Given the description of an element on the screen output the (x, y) to click on. 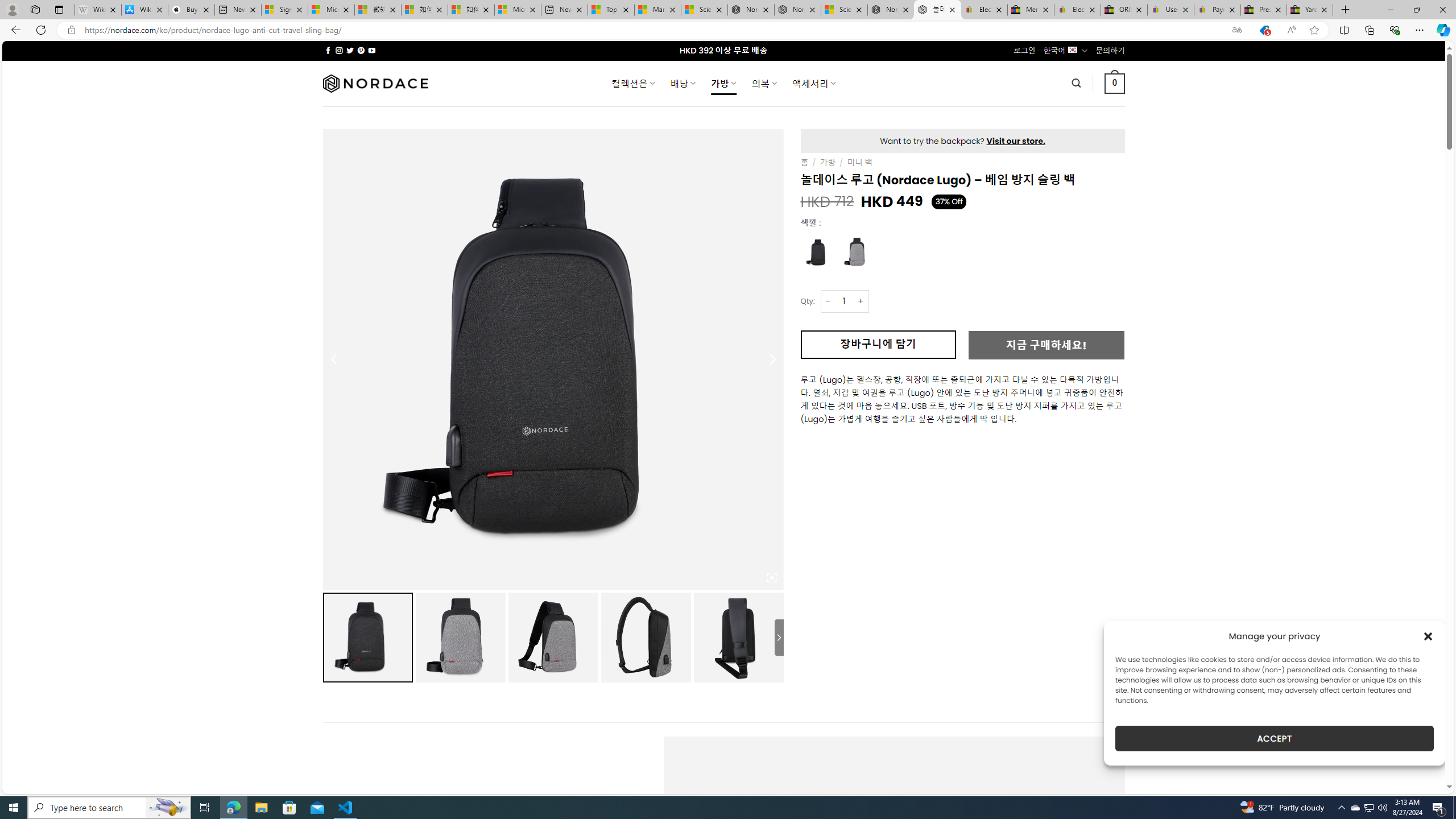
Class: iconic-woothumbs-fullscreen (771, 577)
This site has coupons! Shopping in Microsoft Edge, 5 (1263, 29)
